Given the description of an element on the screen output the (x, y) to click on. 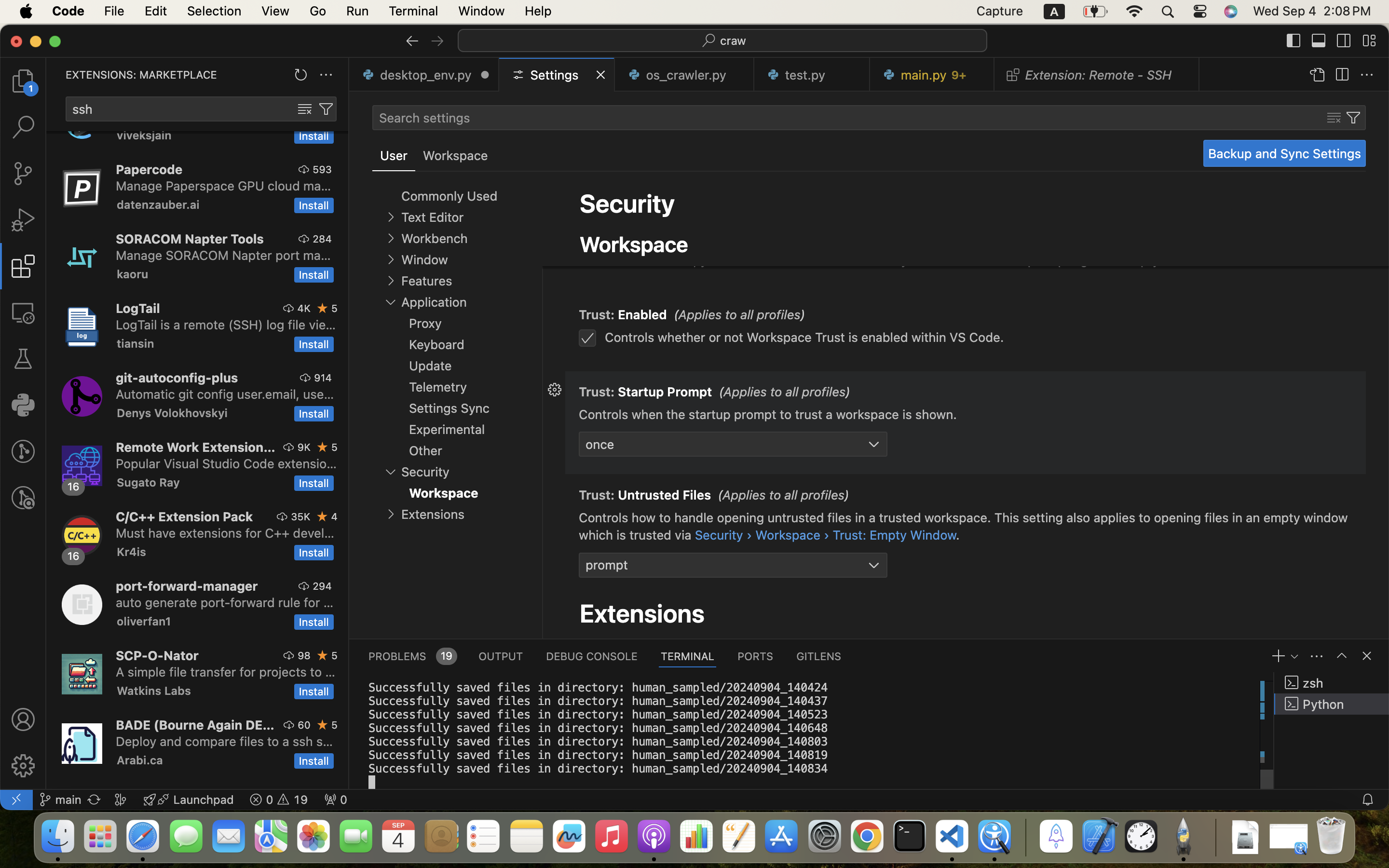
Settings Sync Element type: AXStaticText (449, 408)
4K Element type: AXStaticText (303, 307)
datenzauber.ai Element type: AXStaticText (157, 204)
